Given the description of an element on the screen output the (x, y) to click on. 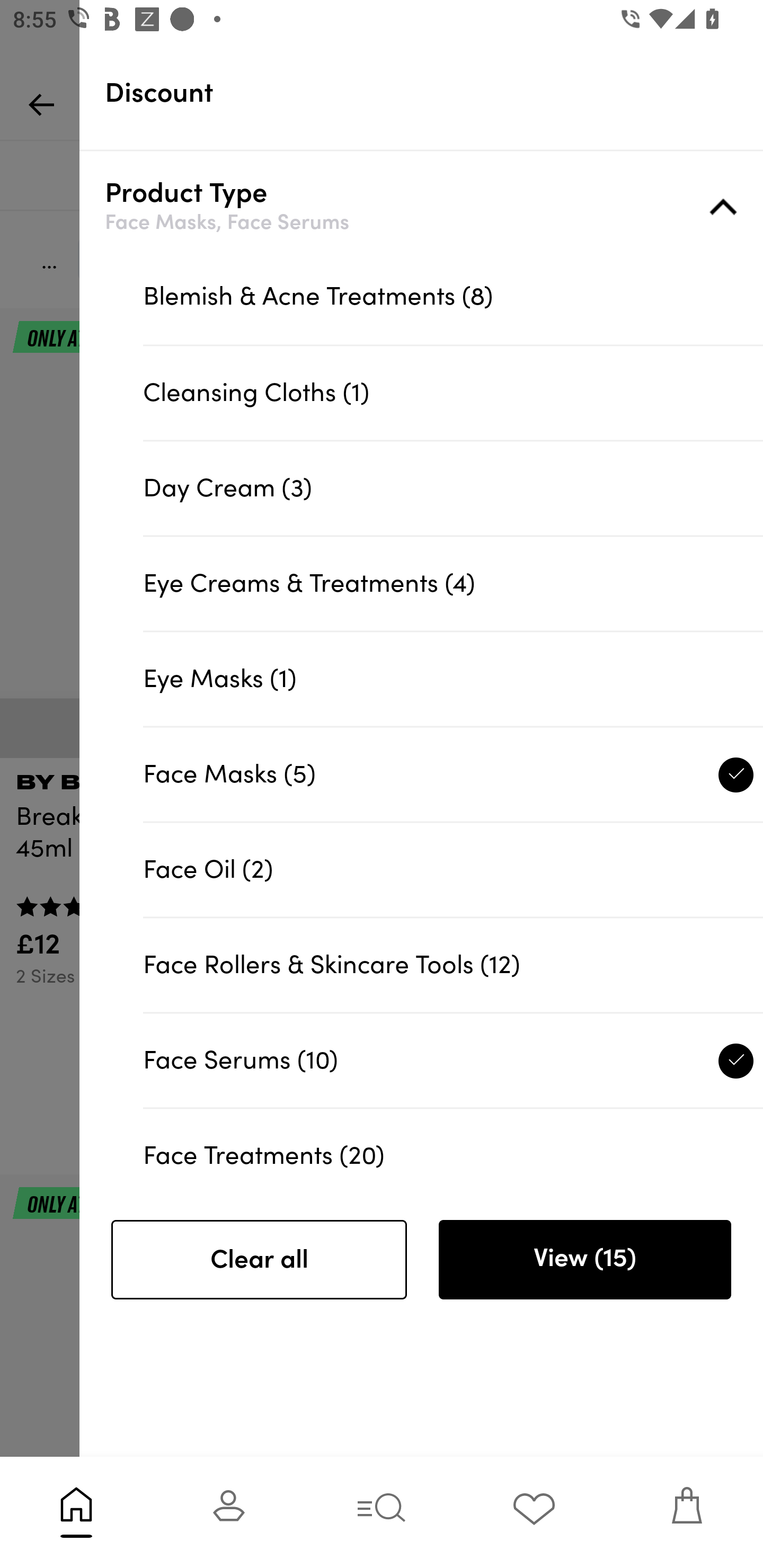
Discount (434, 92)
Blemish & Acne Treatments (8) (453, 296)
Cleansing Cloths (1) (453, 392)
Day Cream (3) (453, 488)
Eye Creams & Treatments (4) (453, 583)
Eye Masks (1) (453, 677)
Face Masks (5)  (453, 773)
Face Oil (2) (453, 869)
Face Rollers & Skincare Tools (12) (453, 964)
Face Serums (10)  (453, 1059)
Face Treatments (20) (453, 1147)
Clear all (258, 1259)
View (15) (584, 1259)
